Given the description of an element on the screen output the (x, y) to click on. 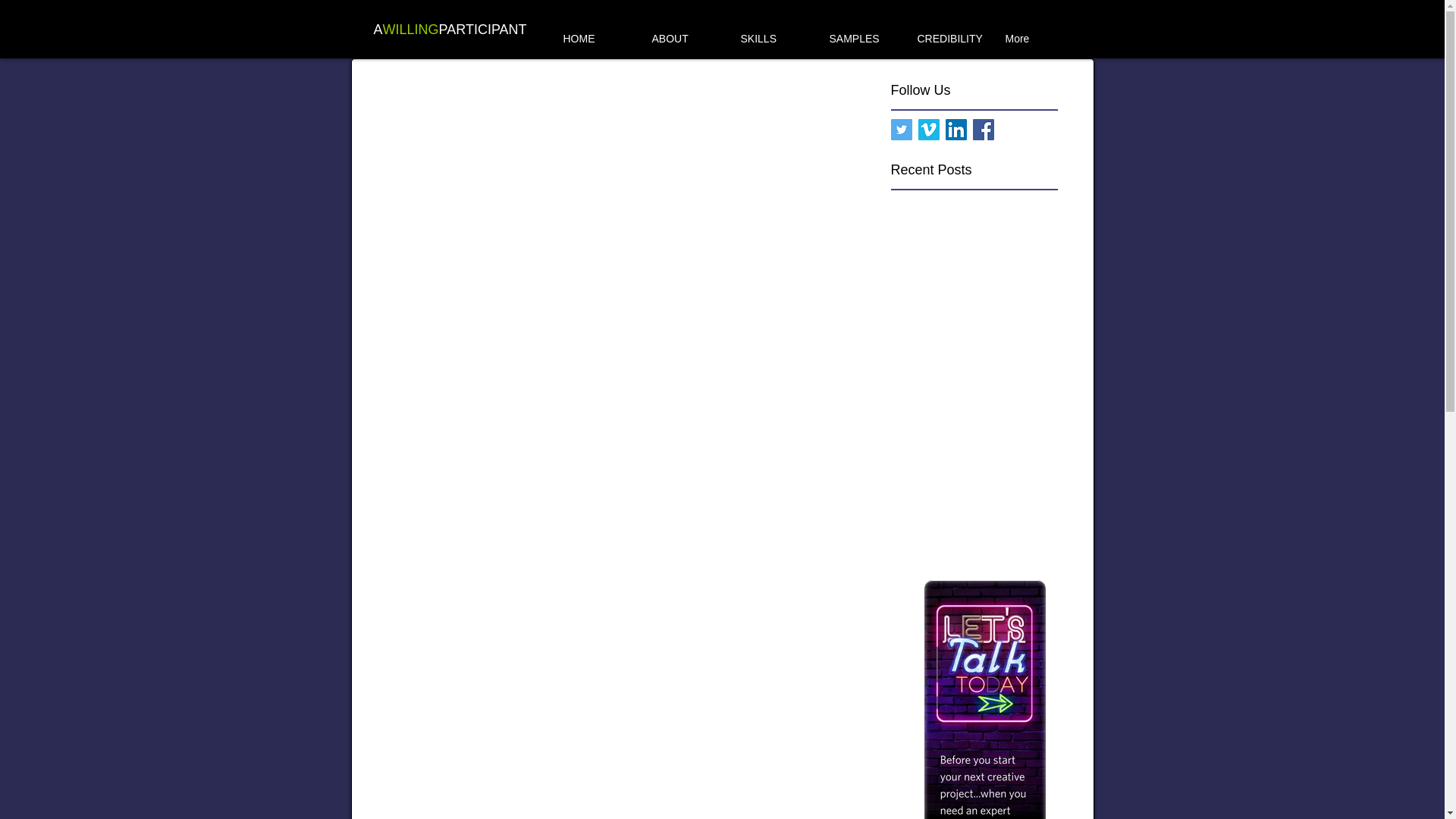
ABOUT (686, 31)
SKILLS (774, 31)
HOME (597, 31)
SAMPLES (862, 31)
CREDIBILITY (950, 31)
